Given the description of an element on the screen output the (x, y) to click on. 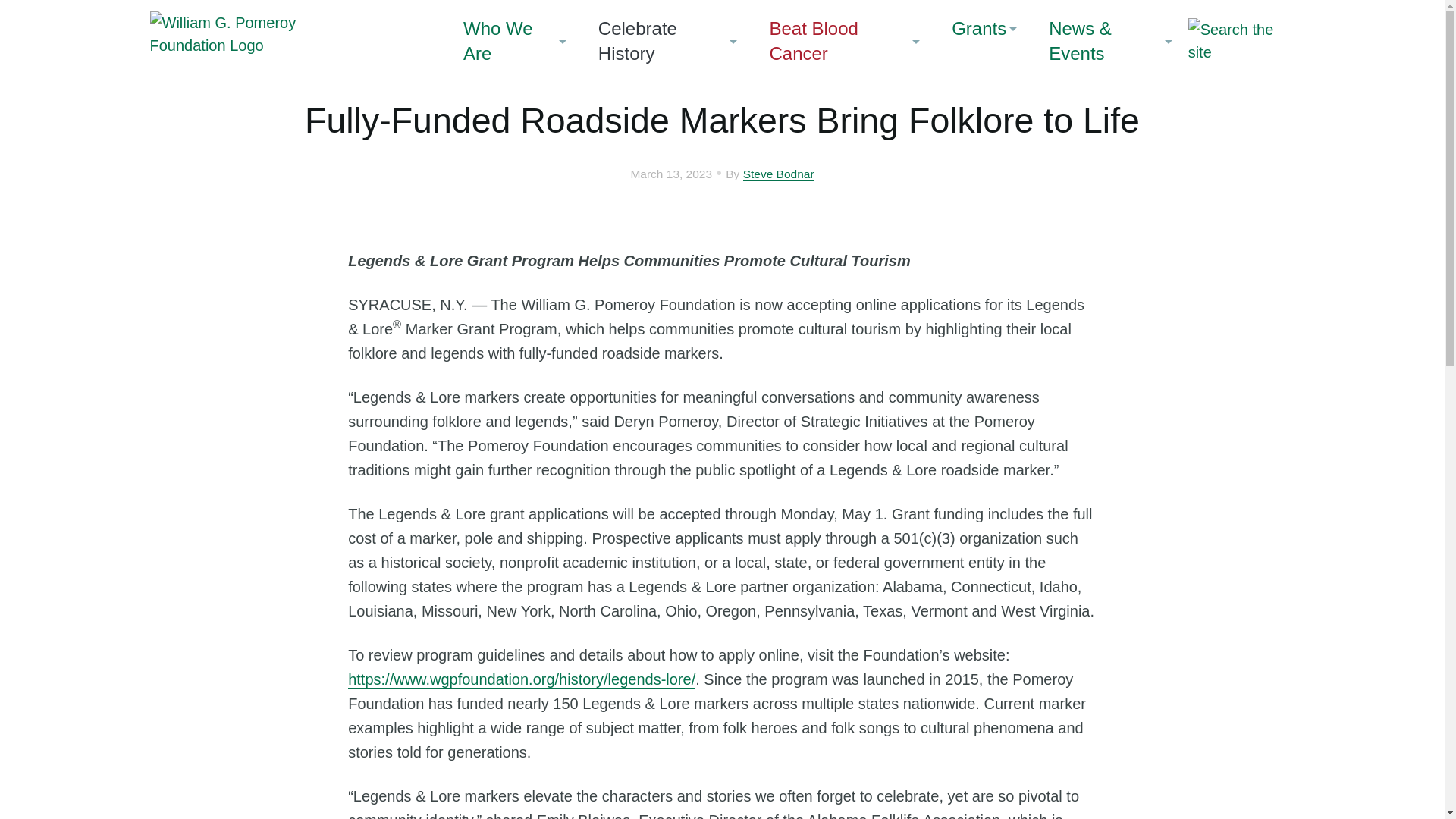
Who We Are (514, 41)
Beat Blood Cancer (844, 41)
Grants (984, 28)
Celebrate History (668, 41)
